Given the description of an element on the screen output the (x, y) to click on. 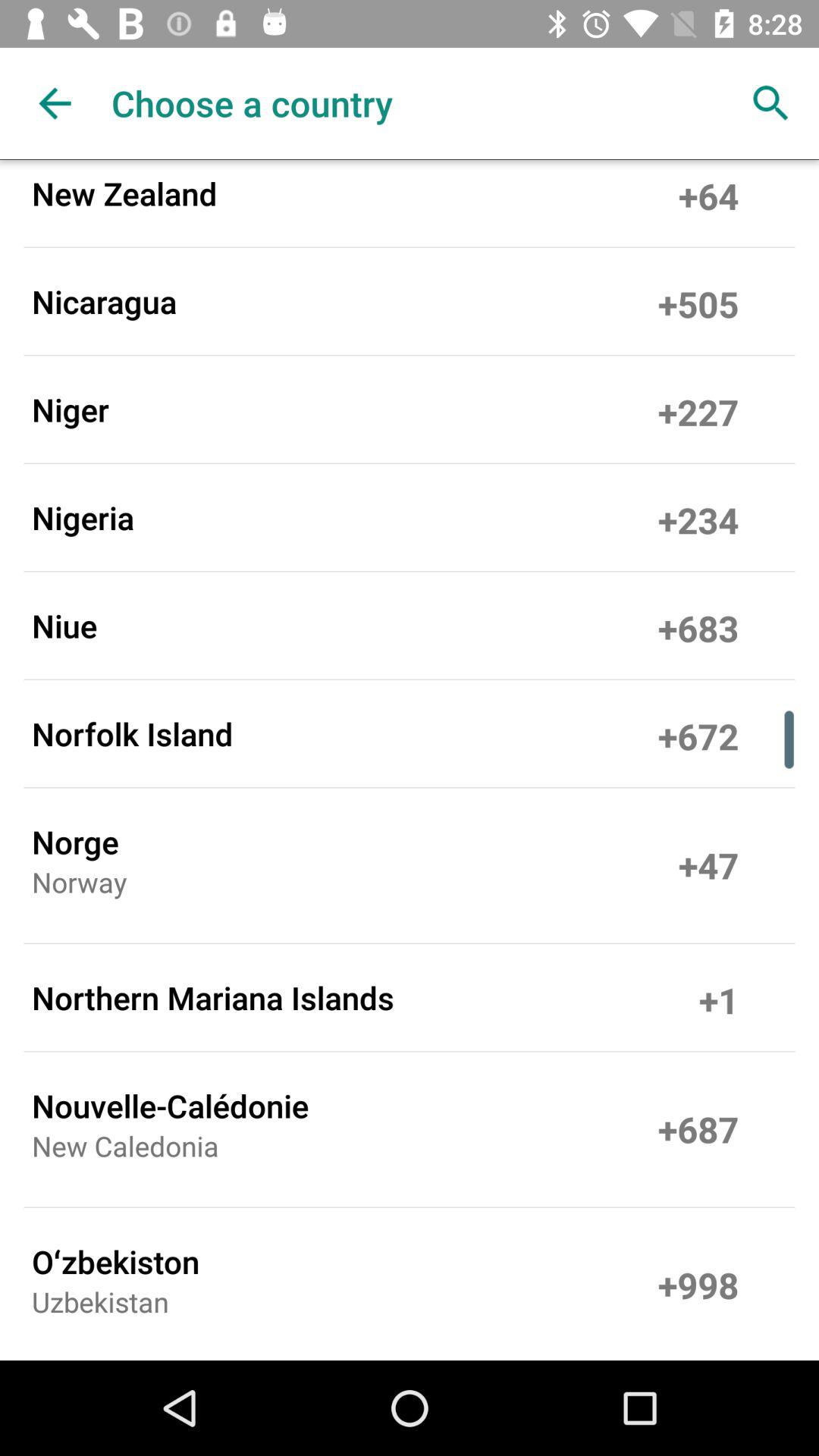
tap item above +234 item (698, 409)
